Given the description of an element on the screen output the (x, y) to click on. 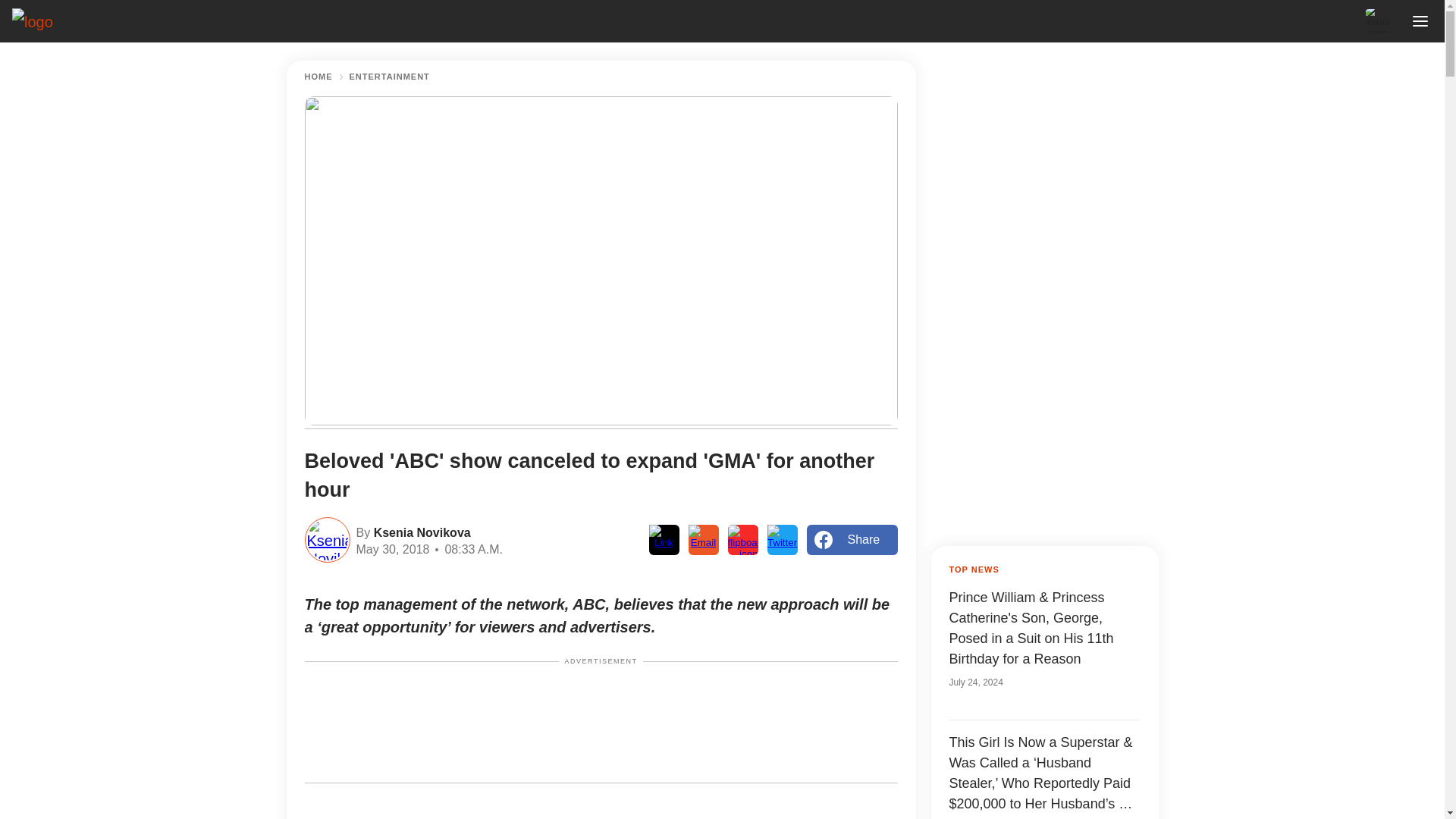
HOME (318, 76)
ENTERTAINMENT (389, 76)
Ksenia Novikova (419, 531)
